Given the description of an element on the screen output the (x, y) to click on. 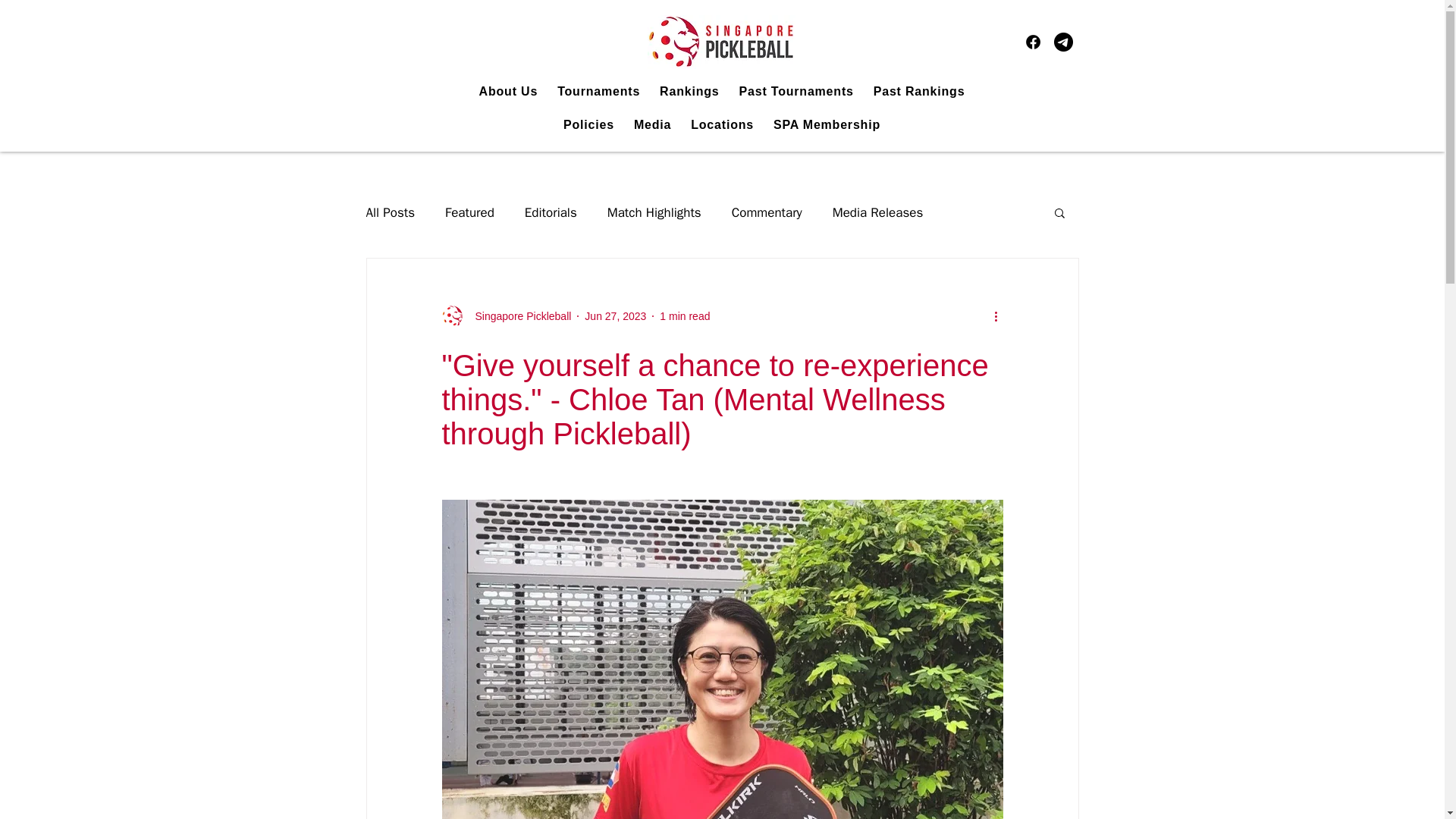
1 min read (684, 315)
About Us (508, 91)
Jun 27, 2023 (615, 315)
Singapore Pickleball (517, 315)
